Given the description of an element on the screen output the (x, y) to click on. 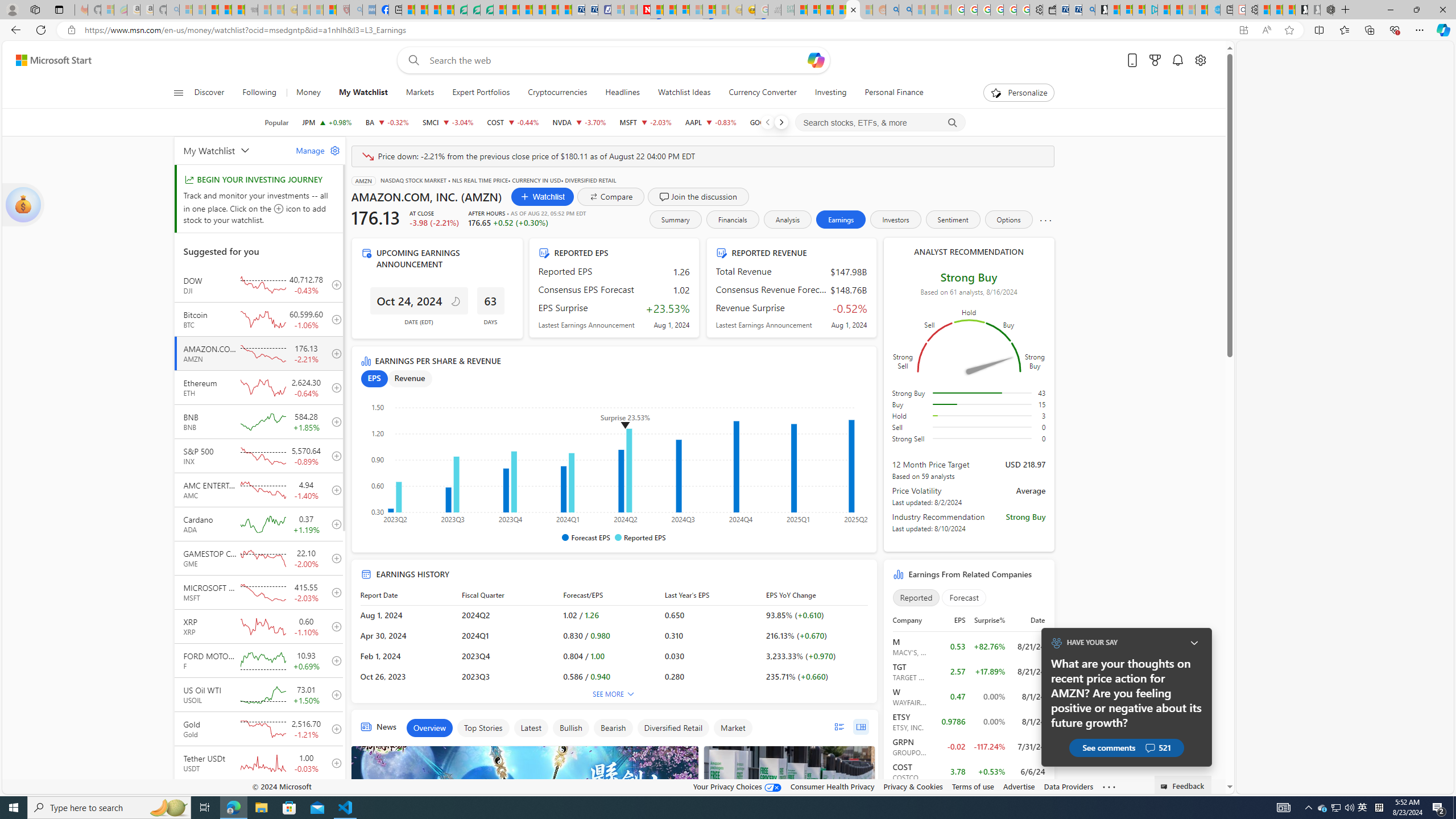
list layout (839, 726)
Enter your search term (617, 59)
Bearish (612, 728)
grid layout (861, 726)
The Weather Channel - MSN (212, 9)
Watchlist Ideas (683, 92)
